Given the description of an element on the screen output the (x, y) to click on. 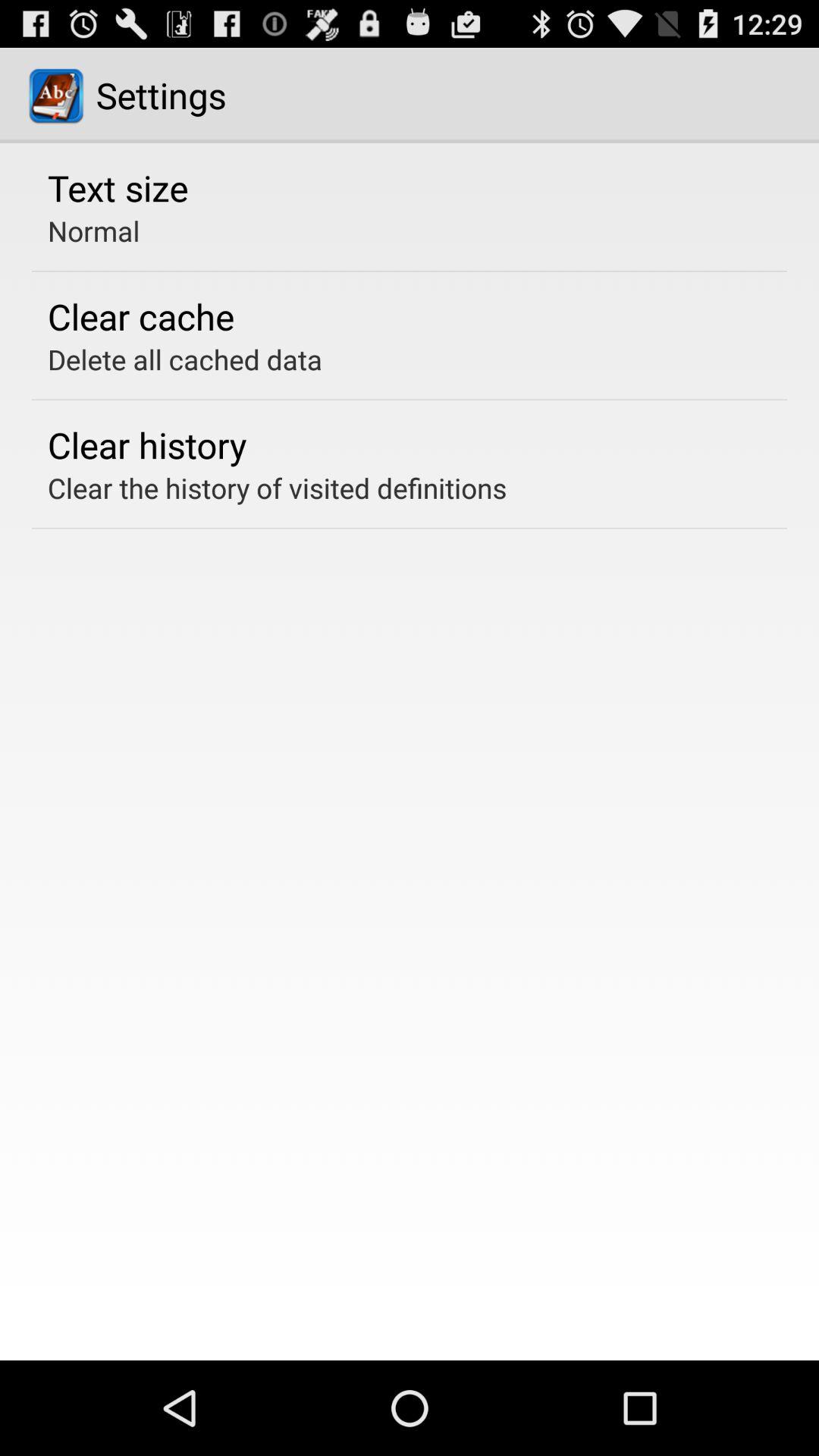
flip to the normal item (93, 230)
